Given the description of an element on the screen output the (x, y) to click on. 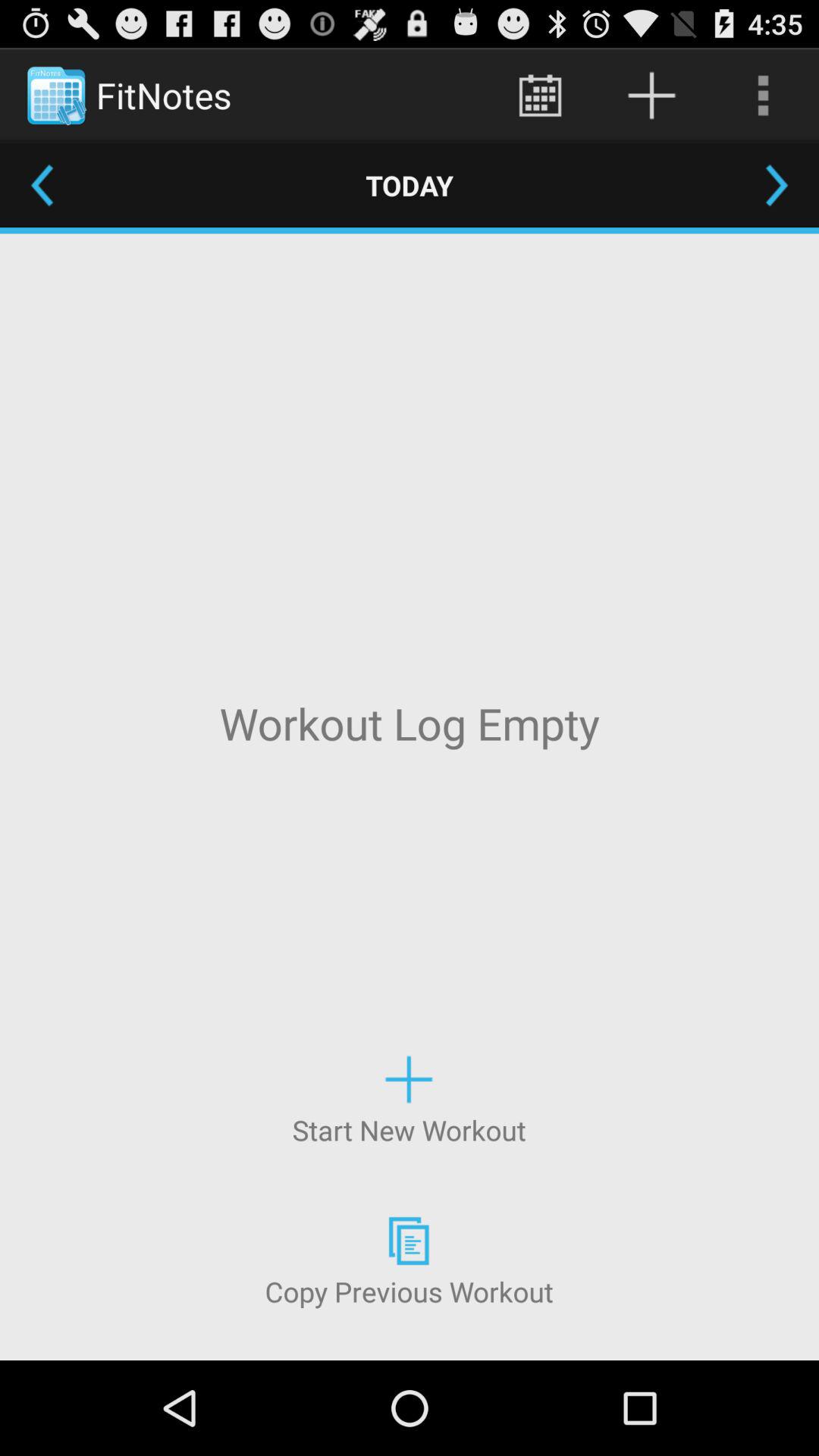
turn off start new workout (409, 1098)
